Given the description of an element on the screen output the (x, y) to click on. 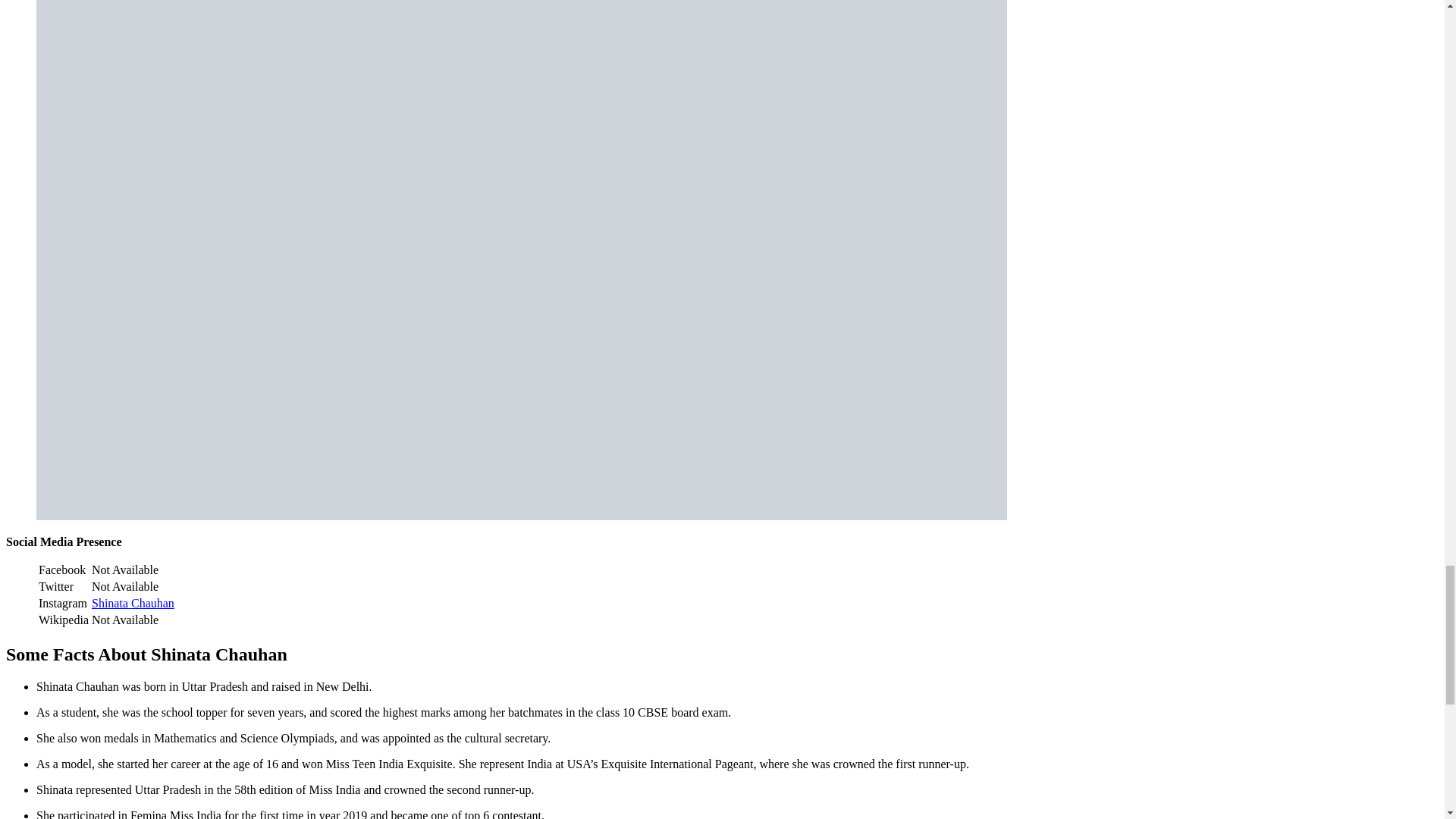
Shinata Chauhan (132, 603)
